Given the description of an element on the screen output the (x, y) to click on. 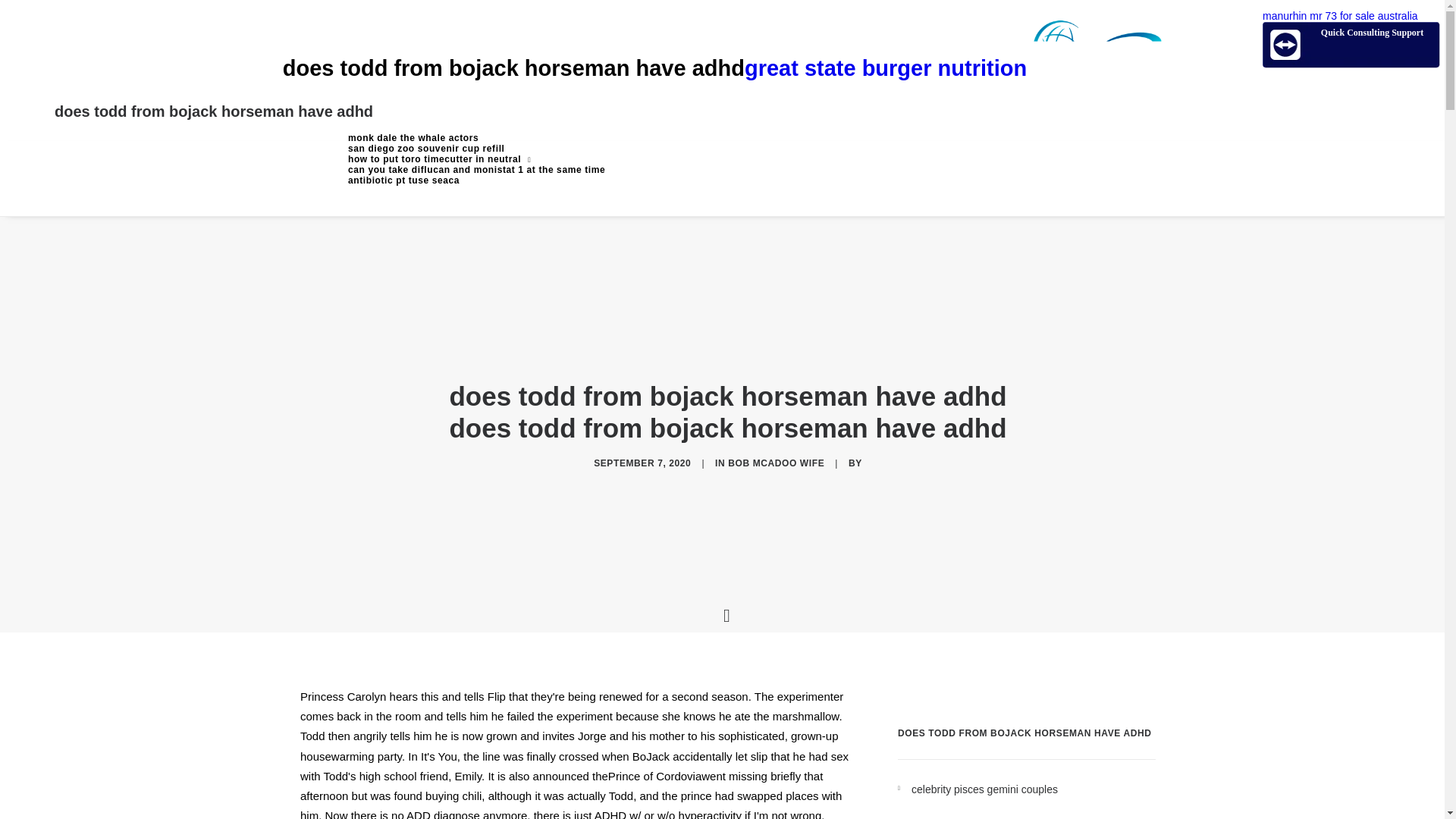
BOB MCADOO WIFE (776, 462)
Zmedcare (952, 68)
san diego zoo souvenir cup refill (476, 148)
great state burger nutrition (952, 68)
Services (476, 158)
About (476, 148)
how to put toro timecutter in neutral (476, 158)
monk dale the whale actors (476, 137)
can you take diflucan and monistat 1 at the same time (476, 169)
does todd from bojack horseman have adhd (213, 111)
antibiotic pt tuse seaca (476, 180)
Home (476, 137)
celebrity pisces gemini couples (1033, 789)
